Given the description of an element on the screen output the (x, y) to click on. 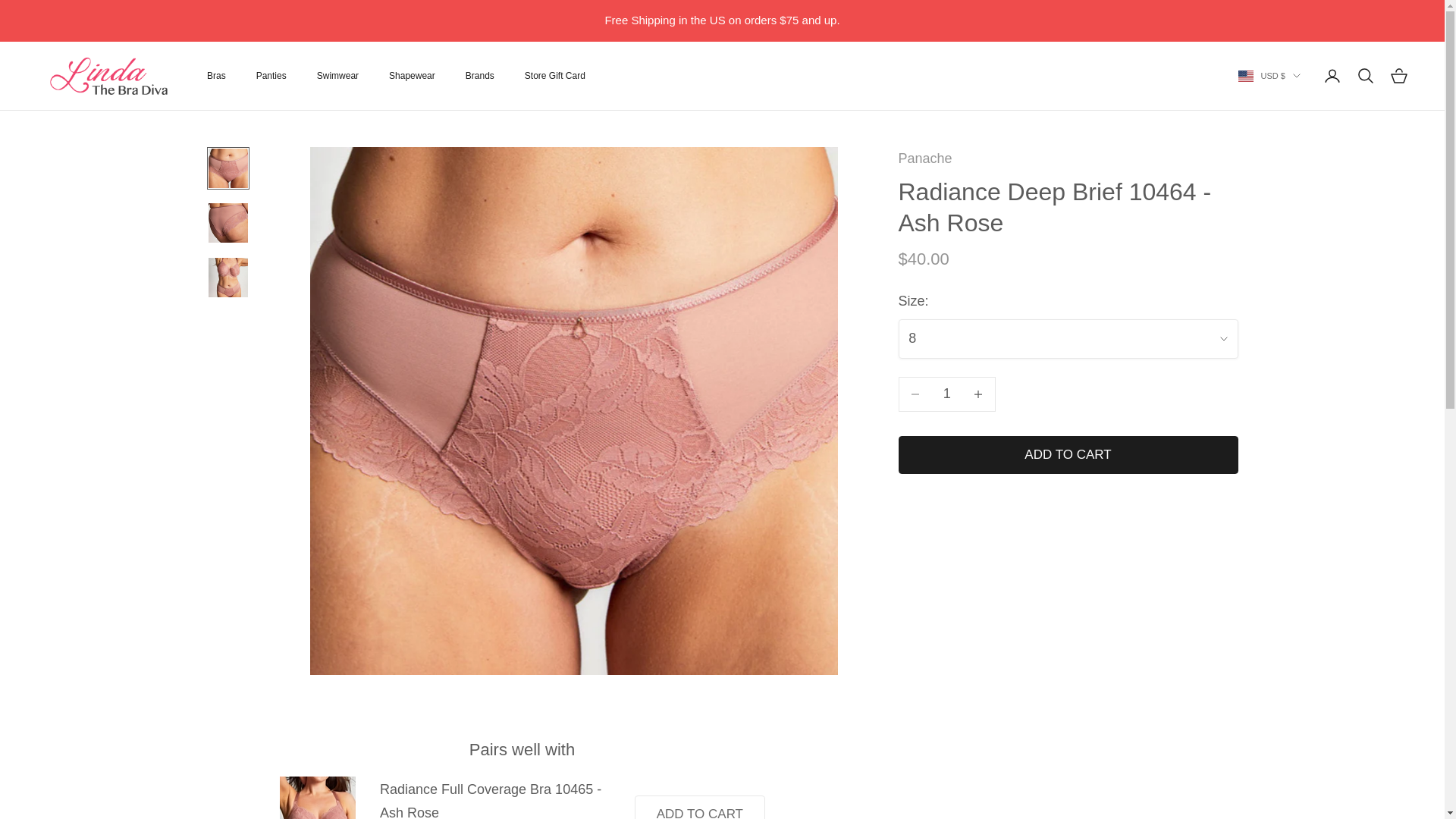
1 (946, 393)
Swimwear (337, 75)
Linda's Bra Salon (106, 76)
Shapewear (411, 75)
